Given the description of an element on the screen output the (x, y) to click on. 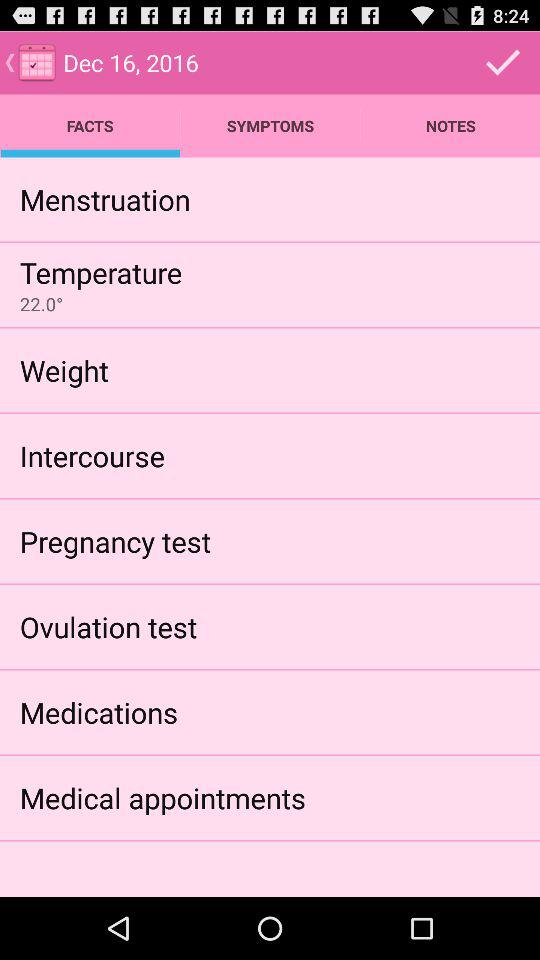
swipe to temperature (100, 272)
